Given the description of an element on the screen output the (x, y) to click on. 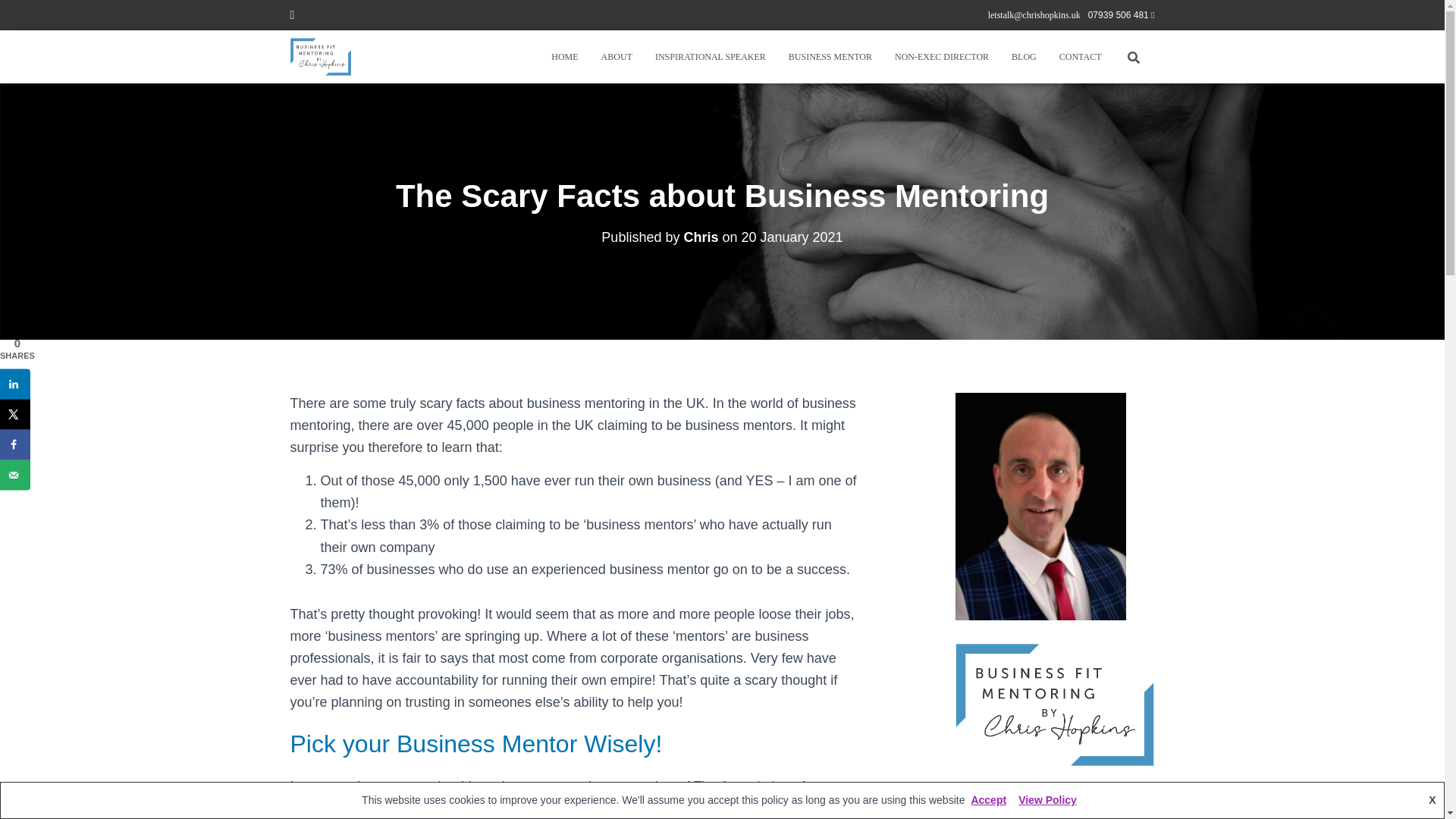
ABOUT (616, 56)
BUSINESS MENTOR (830, 56)
07939 506 481 (1120, 14)
About (616, 56)
HOME (564, 56)
Chris Hopkins (320, 56)
BLOG (1024, 56)
Inspirational Speaker (710, 56)
Non-exec Director (941, 56)
Business Mentor (830, 56)
Home (564, 56)
NON-EXEC DIRECTOR (941, 56)
INSPIRATIONAL SPEAKER (710, 56)
Chris (699, 237)
Blog (1024, 56)
